Given the description of an element on the screen output the (x, y) to click on. 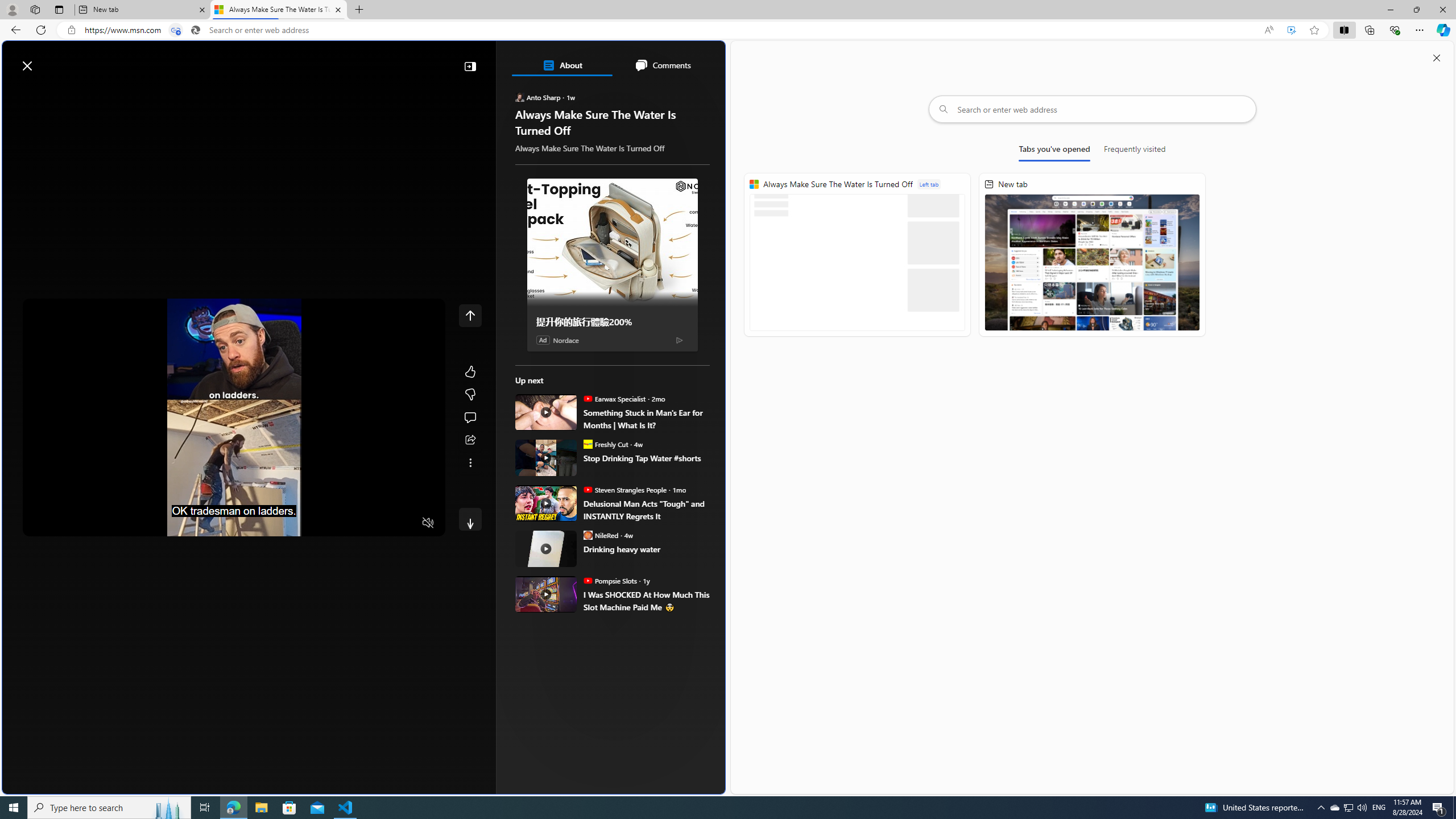
Share this story (469, 440)
Search icon (195, 29)
Workspaces (34, 9)
Back (13, 29)
Class: button-glyph (16, 92)
Browser essentials (1394, 29)
Following (98, 92)
Open navigation menu (16, 92)
Discover (47, 92)
Enhance video (1291, 29)
